Given the description of an element on the screen output the (x, y) to click on. 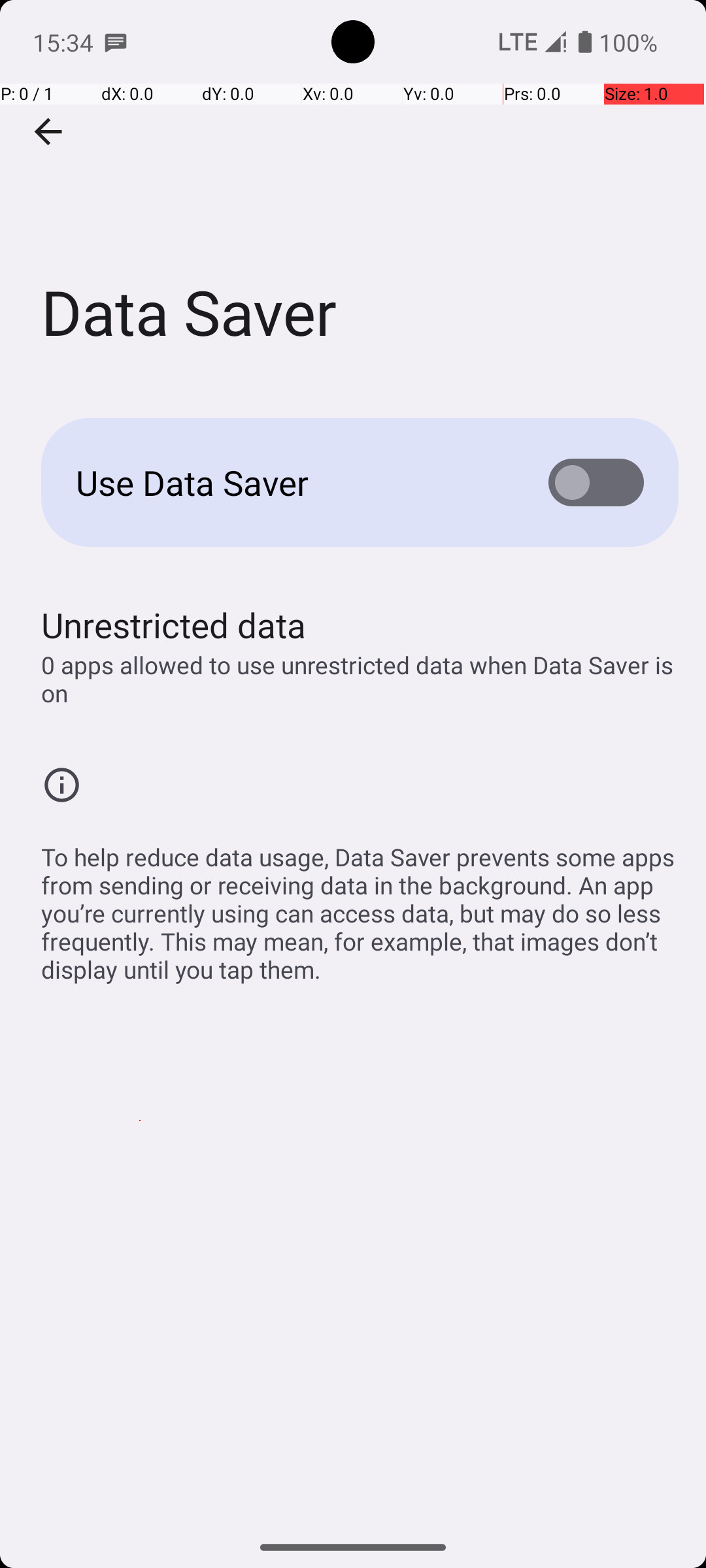
Use Data Saver Element type: android.widget.TextView (291, 482)
Unrestricted data Element type: android.widget.TextView (173, 624)
0 apps allowed to use unrestricted data when Data Saver is on Element type: android.widget.TextView (359, 678)
To help reduce data usage, Data Saver prevents some apps from sending or receiving data in the background. An app you’re currently using can access data, but may do so less frequently. This may mean, for example, that images don’t display until you tap them. Element type: android.widget.TextView (359, 905)
